Given the description of an element on the screen output the (x, y) to click on. 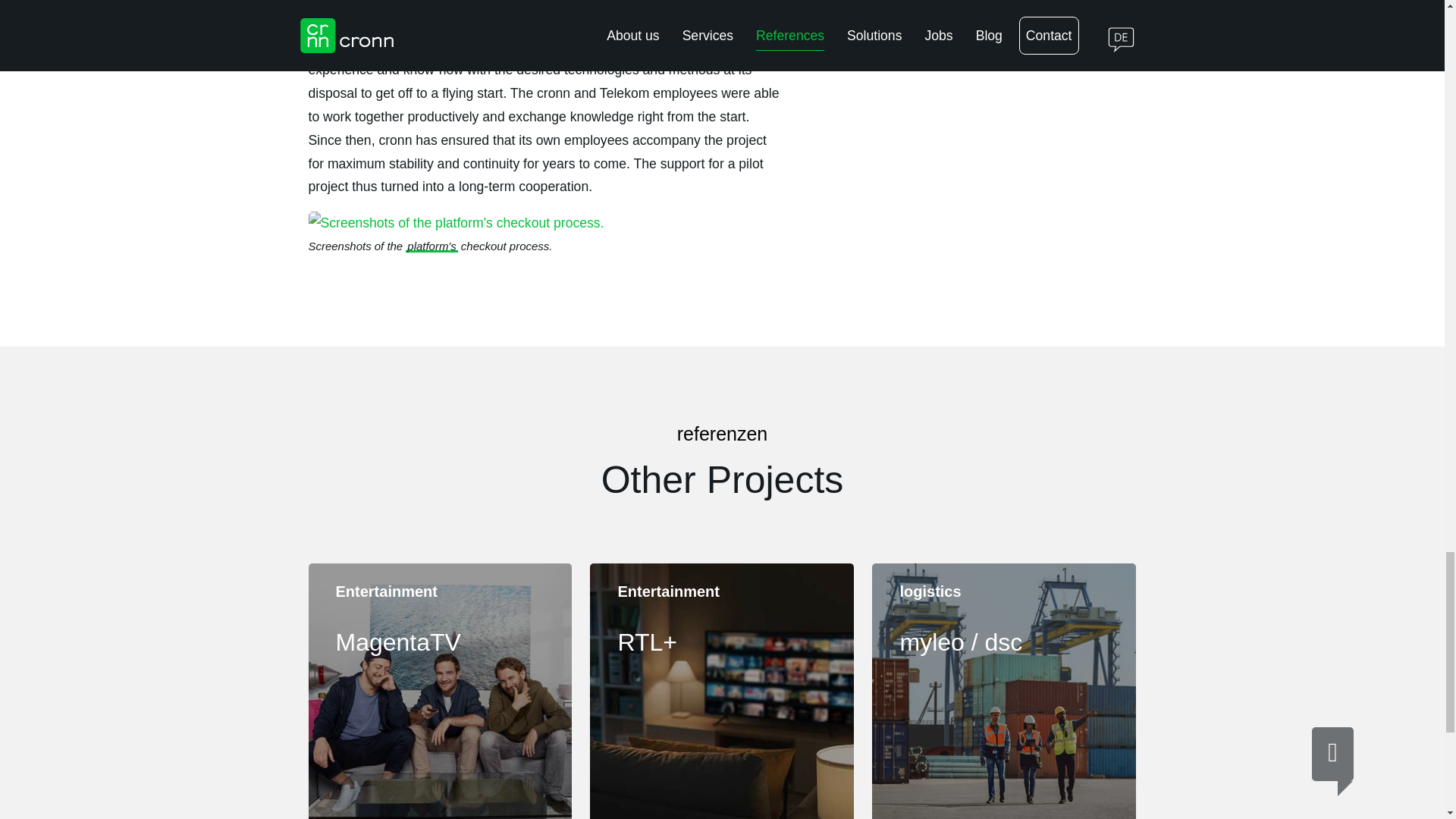
platform's (439, 691)
